Given the description of an element on the screen output the (x, y) to click on. 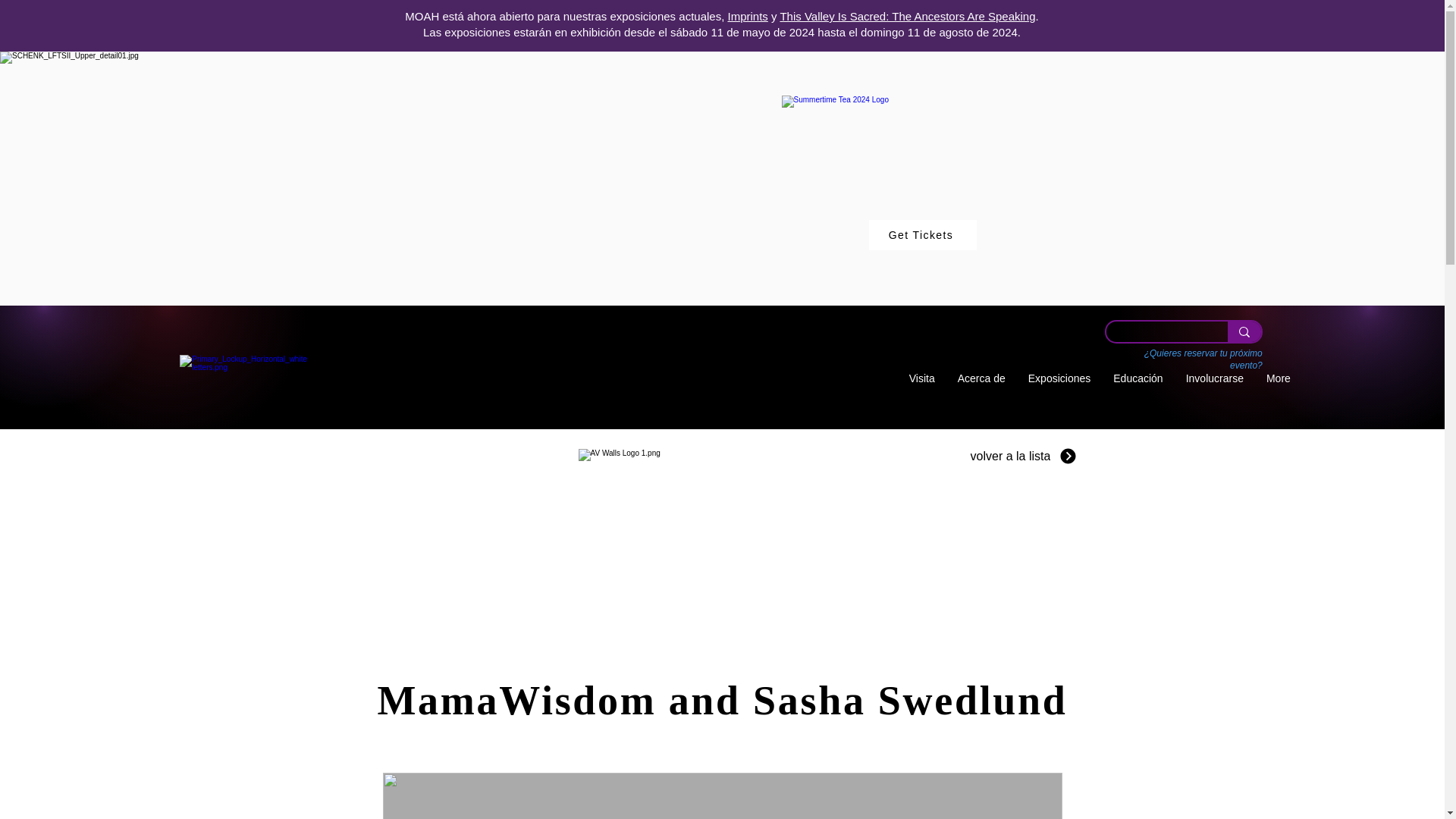
Imprints (748, 15)
Get Tickets (922, 235)
Acerca de (981, 386)
This Valley Is Sacred: The Ancestors Are Speaking (906, 15)
Visita (922, 386)
